Given the description of an element on the screen output the (x, y) to click on. 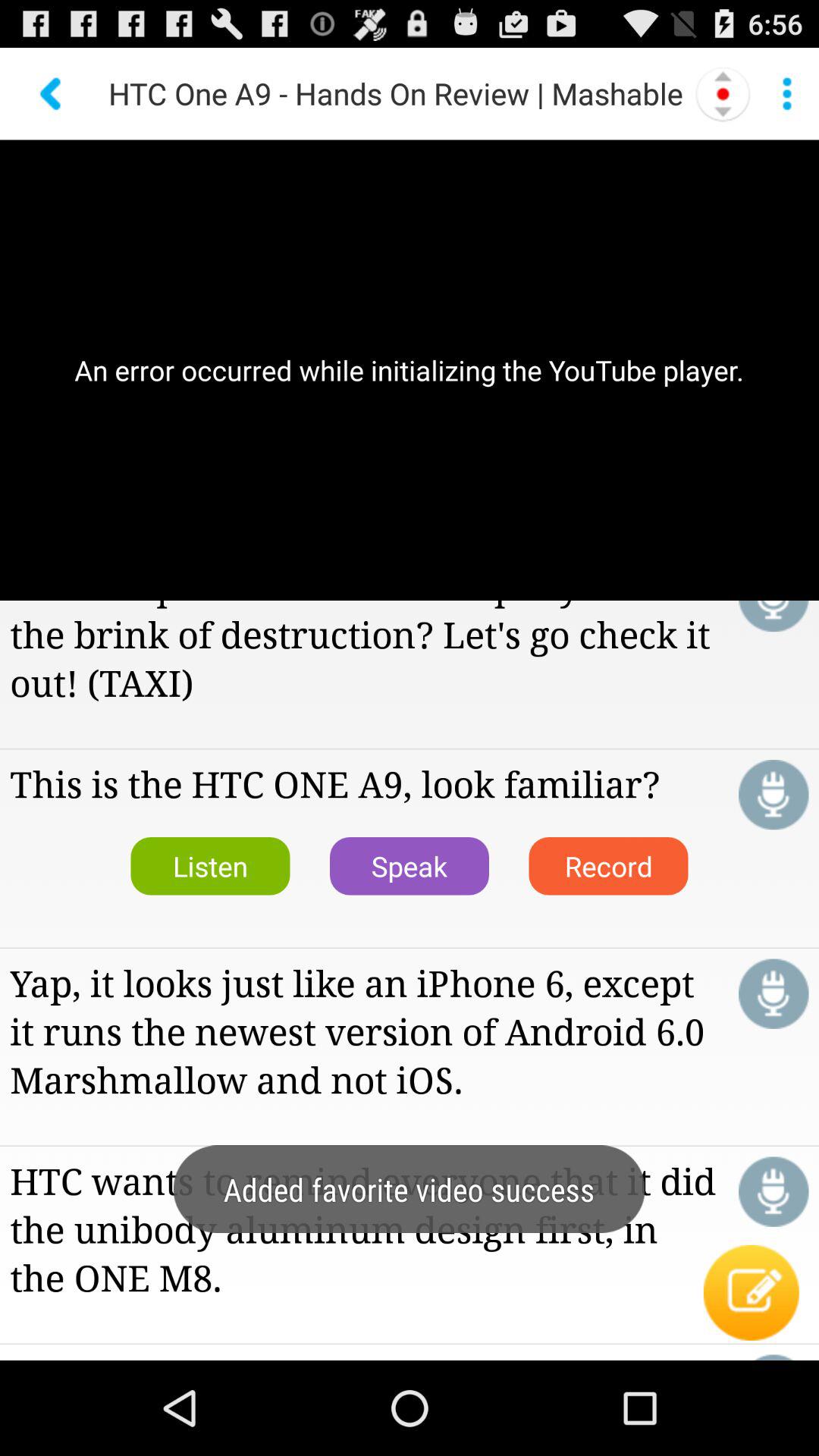
more option (787, 93)
